Given the description of an element on the screen output the (x, y) to click on. 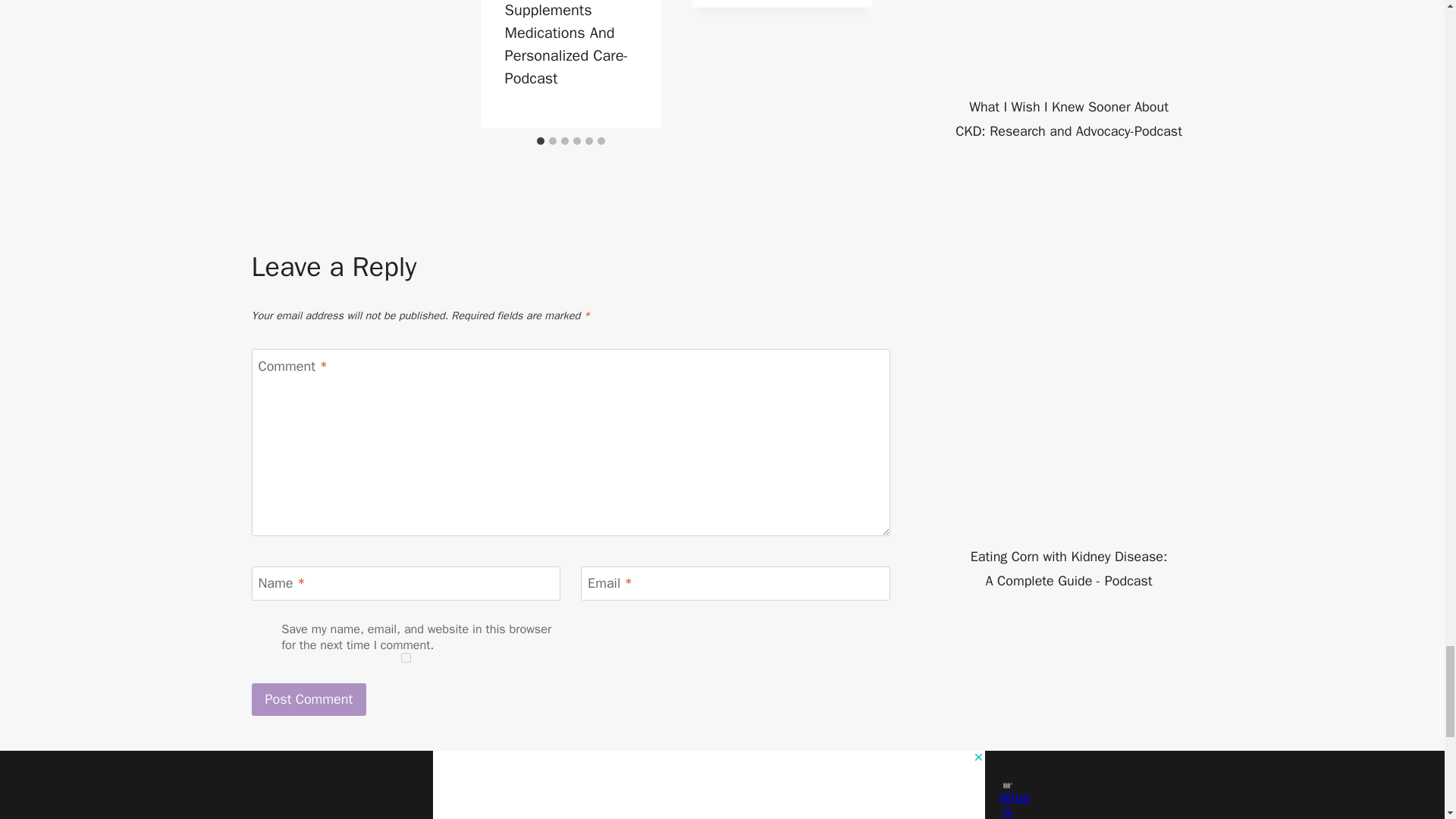
yes (405, 657)
3rd party ad content (1065, 721)
Post Comment (308, 699)
